Given the description of an element on the screen output the (x, y) to click on. 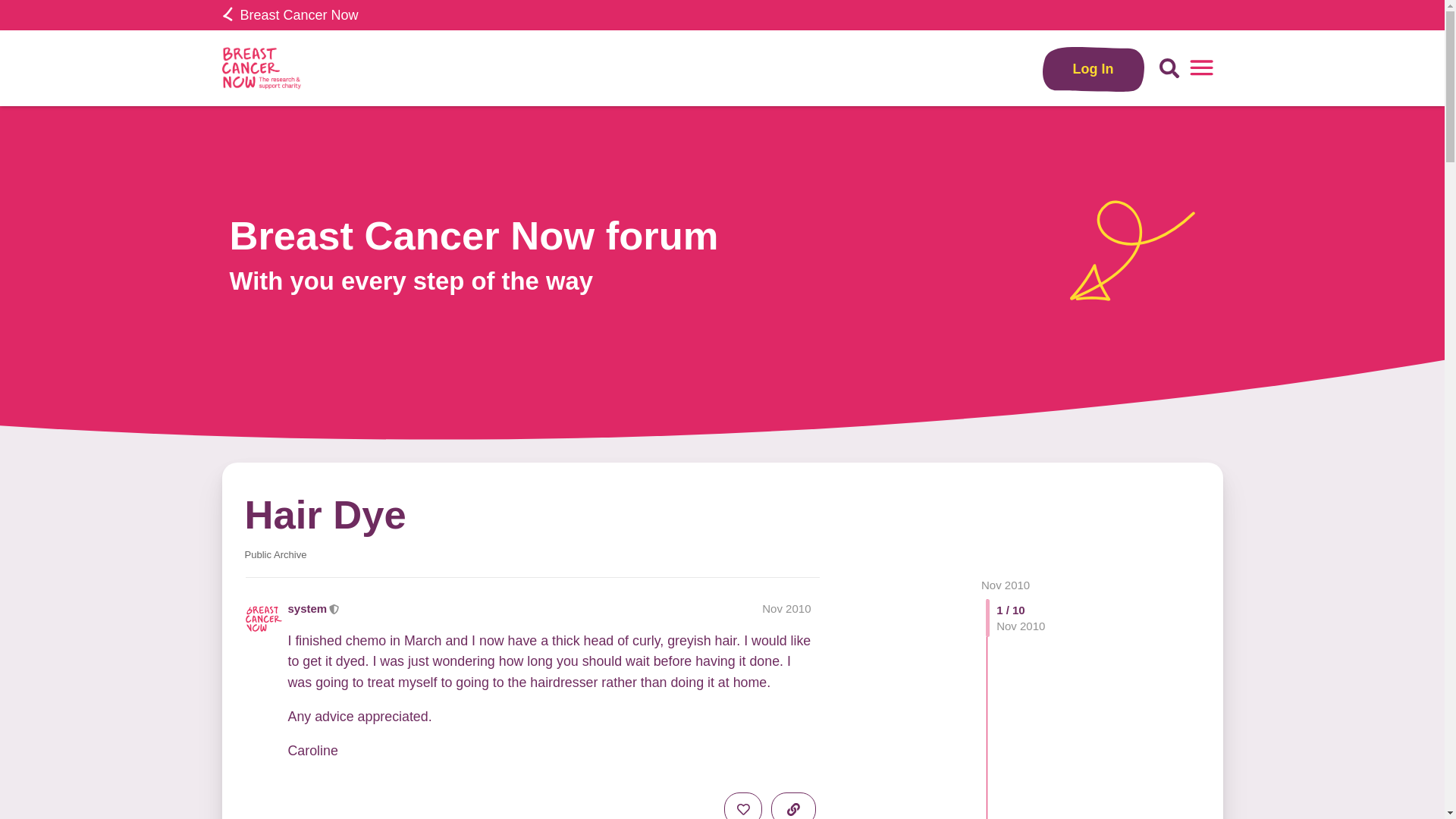
Log In (1093, 68)
Public Archive (274, 554)
Breast Cancer Now (289, 15)
Post date (785, 608)
Search (1169, 68)
menu (1201, 67)
Nov 2010 (1005, 584)
Archived posts which are available to view. (274, 554)
copy a link to this post to clipboard (793, 805)
system (307, 608)
Hair Dye (325, 514)
This user is a moderator (334, 608)
like this post (742, 805)
Nov 2010 (1005, 584)
Nov 2010 (785, 608)
